Given the description of an element on the screen output the (x, y) to click on. 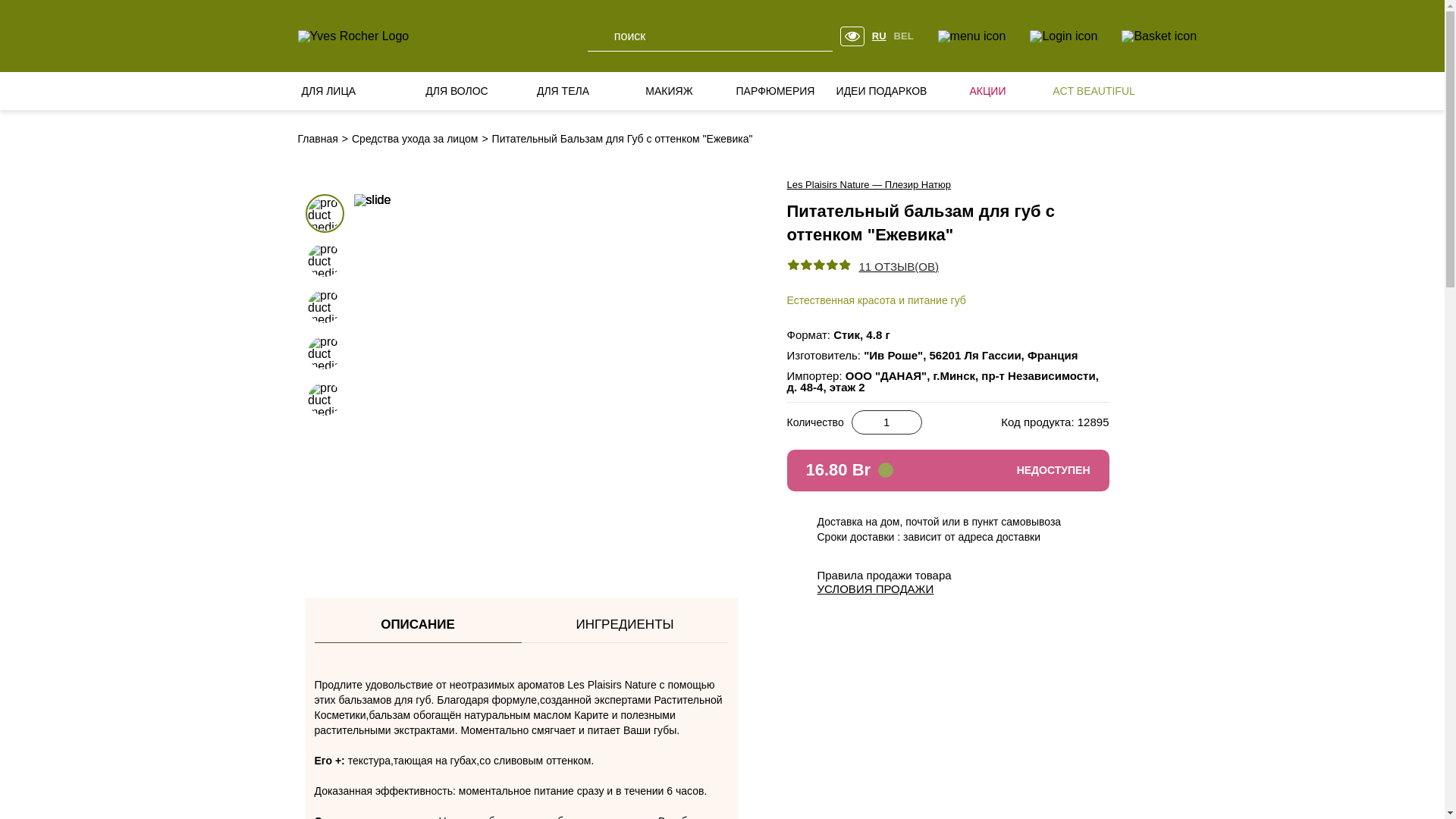
ACT BEAUTIFUL Element type: text (1093, 90)
